Given the description of an element on the screen output the (x, y) to click on. 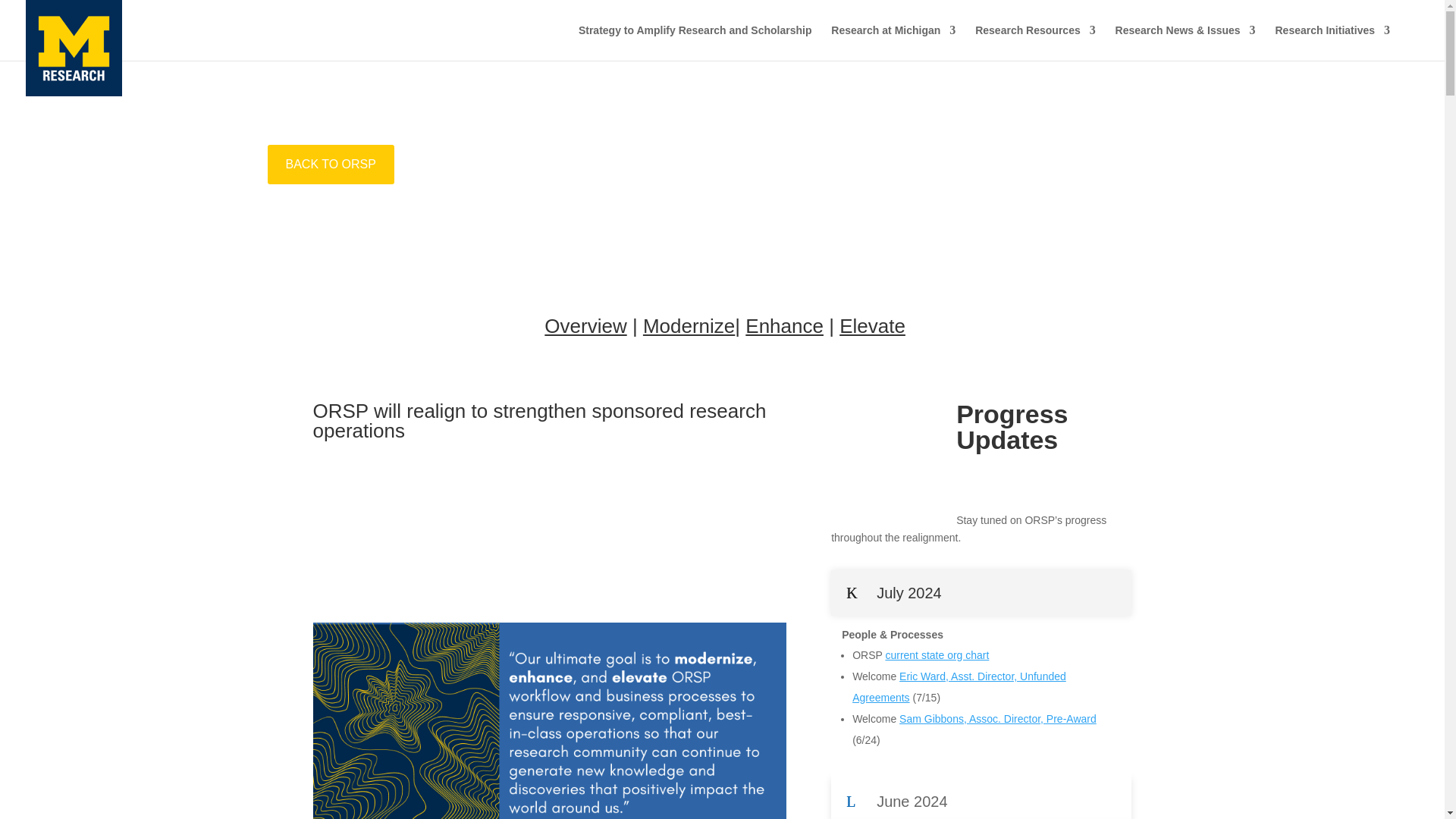
Research Initiatives (1332, 42)
Research Resources (1035, 42)
Strategy to Amplify Research and Scholarship (695, 42)
Research at Michigan (893, 42)
